Given the description of an element on the screen output the (x, y) to click on. 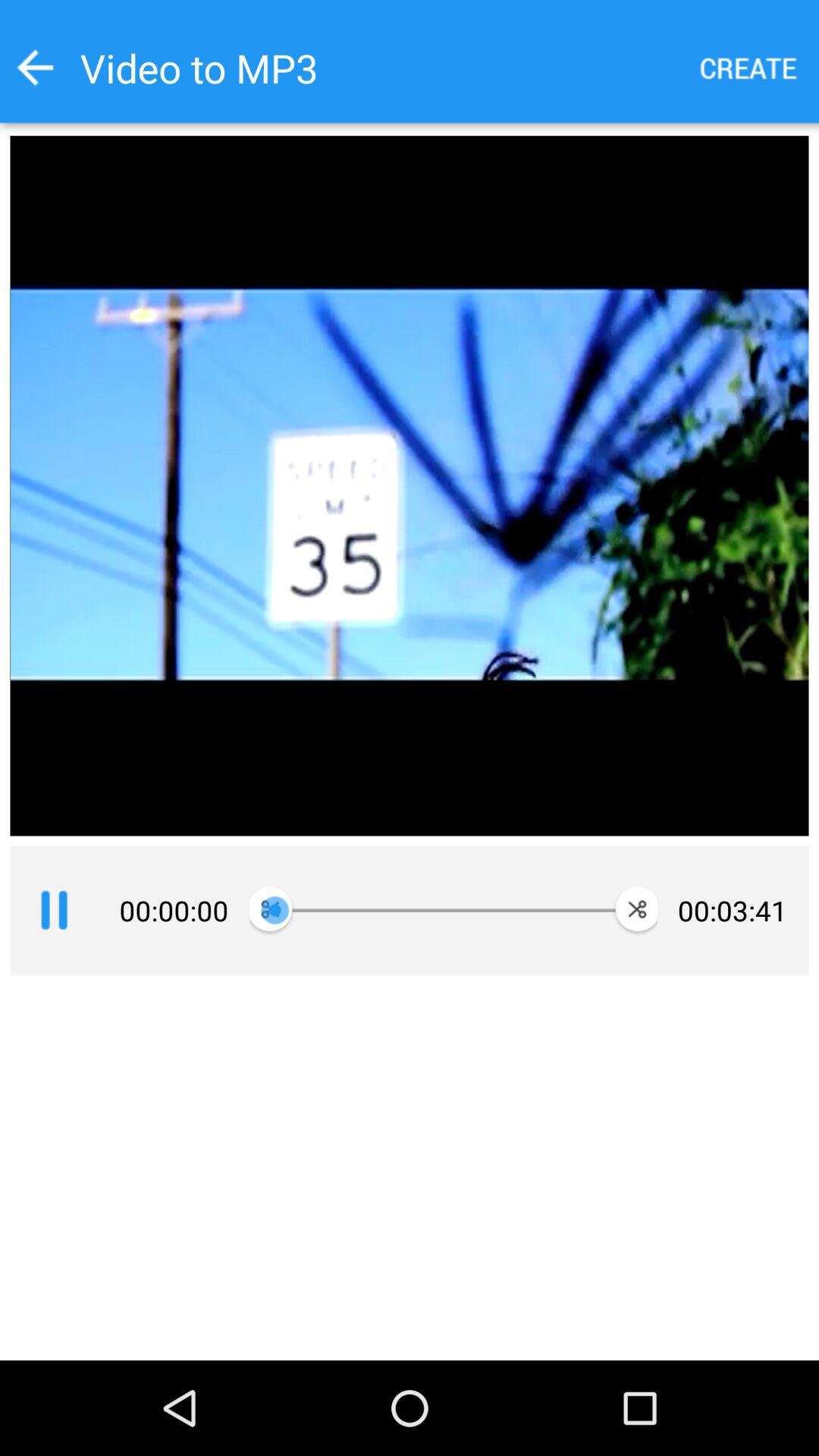
click the button to pause the video (54, 910)
